Given the description of an element on the screen output the (x, y) to click on. 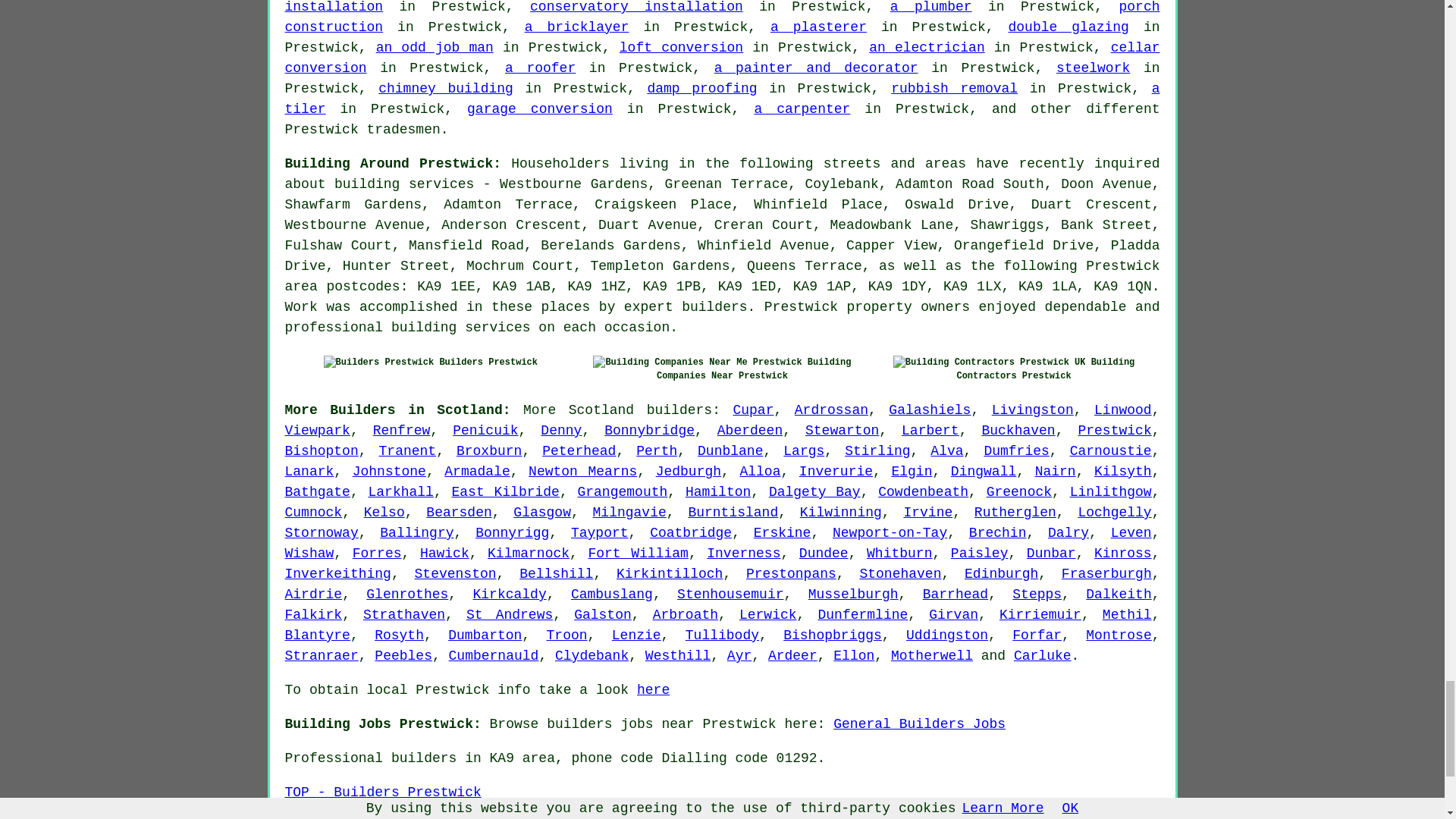
Building Companies Near Me Prestwick (697, 362)
Builders Prestwick (378, 362)
Building Contractors Prestwick UK (989, 362)
